Given the description of an element on the screen output the (x, y) to click on. 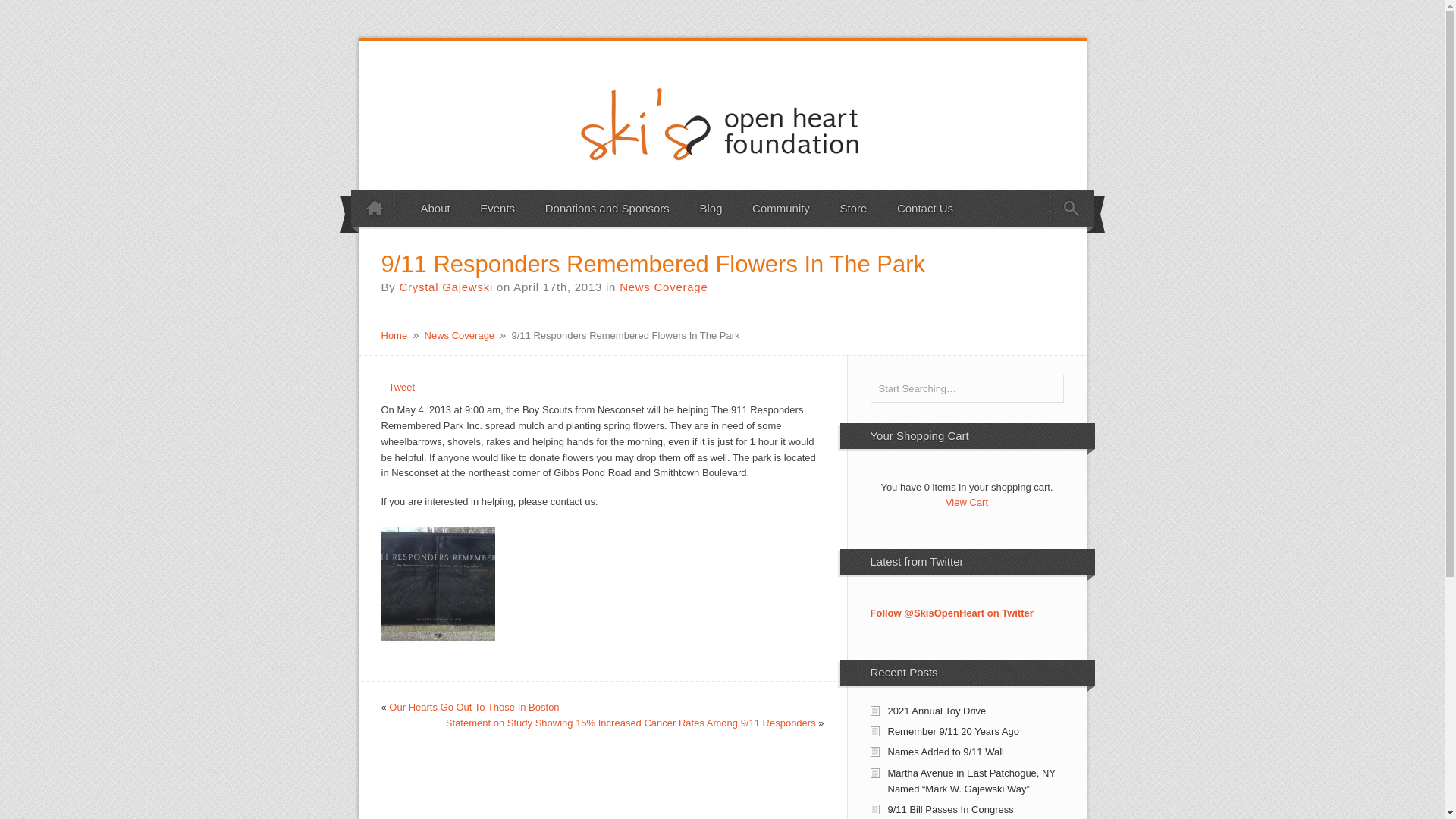
Home (393, 335)
Donations and Sponsors (606, 207)
Tweet (401, 387)
Our Hearts Go Out To Those In Boston (473, 706)
Store (853, 207)
Events (497, 207)
About (434, 207)
2021 Annual Toy Drive (935, 710)
Crystal Gajewski (445, 286)
Blog (710, 207)
Contact Us (924, 207)
View Cart (966, 501)
News Coverage (460, 335)
News Coverage (663, 286)
Community (780, 207)
